Given the description of an element on the screen output the (x, y) to click on. 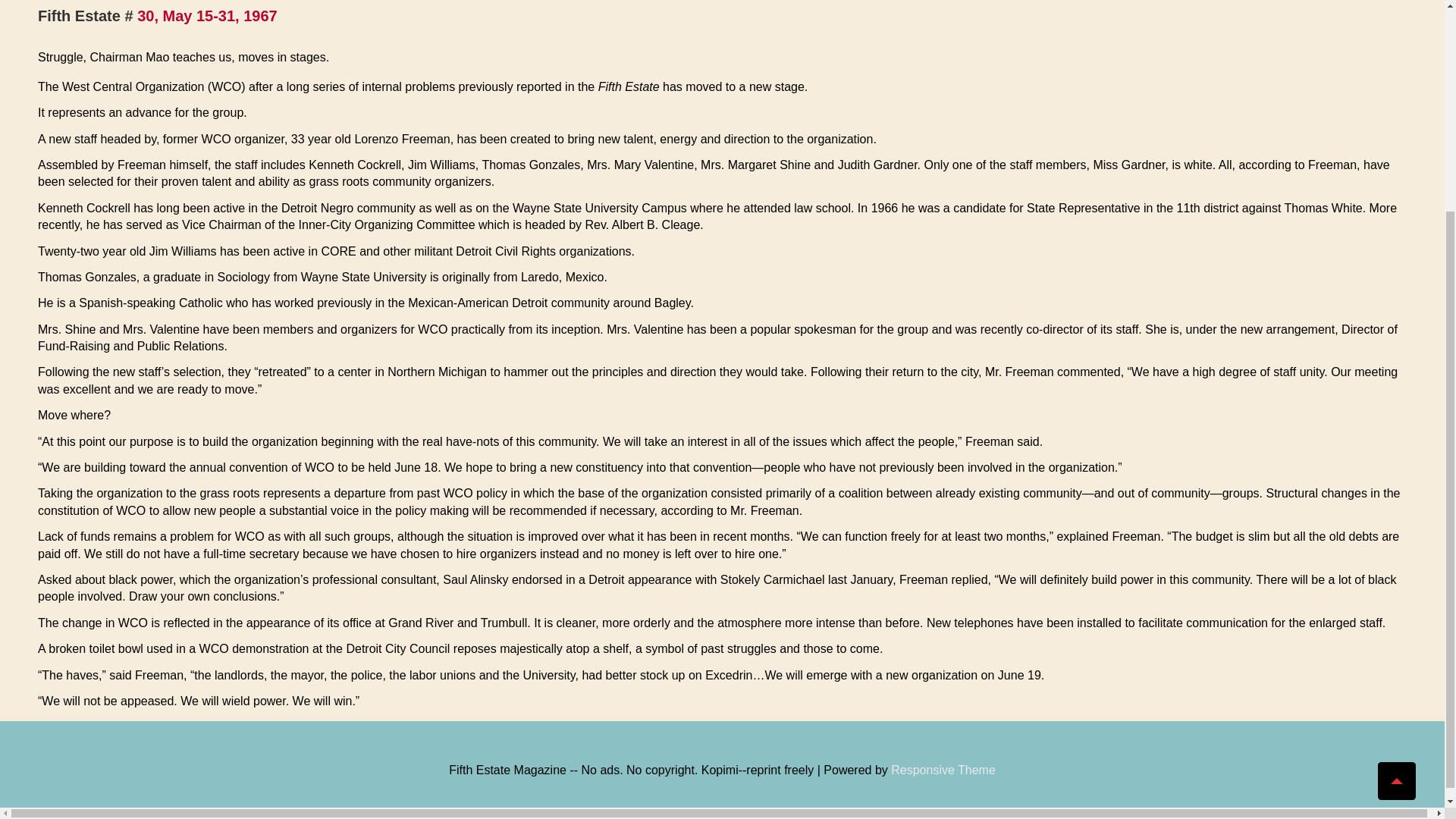
Responsive Theme (943, 769)
30, May 15-31, 1967 (207, 15)
Top (1396, 499)
Scroll to Top (1396, 499)
